Given the description of an element on the screen output the (x, y) to click on. 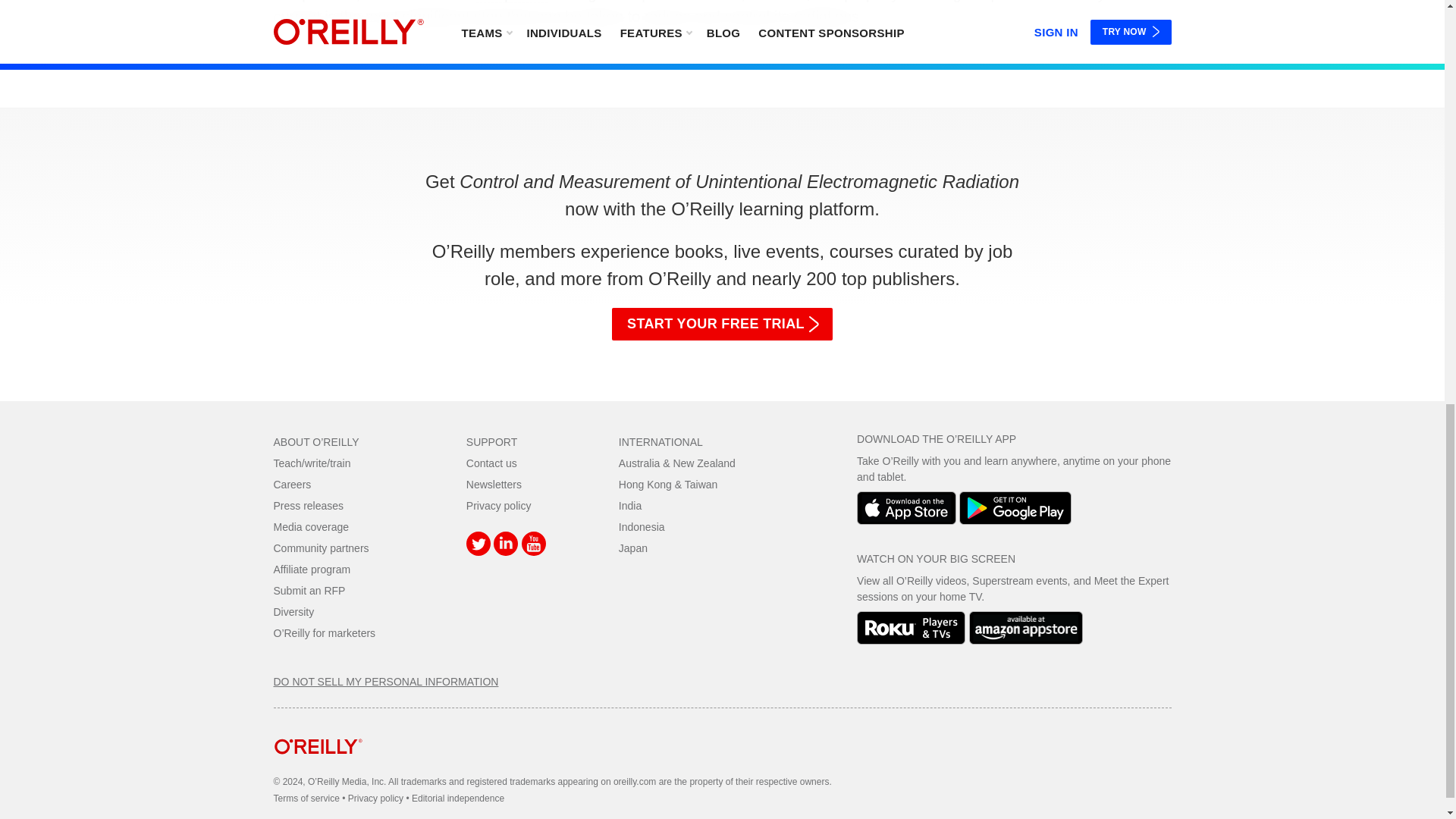
home page (317, 765)
Community partners (320, 548)
Press releases (308, 505)
Chapter 6. (511, 1)
START YOUR FREE TRIAL (721, 324)
Media coverage (311, 526)
SUPPORT (490, 441)
Affiliate program (311, 569)
Submit an RFP (309, 590)
Diversity (293, 612)
Newsletters (493, 484)
Careers (292, 484)
Contact us (490, 463)
